Given the description of an element on the screen output the (x, y) to click on. 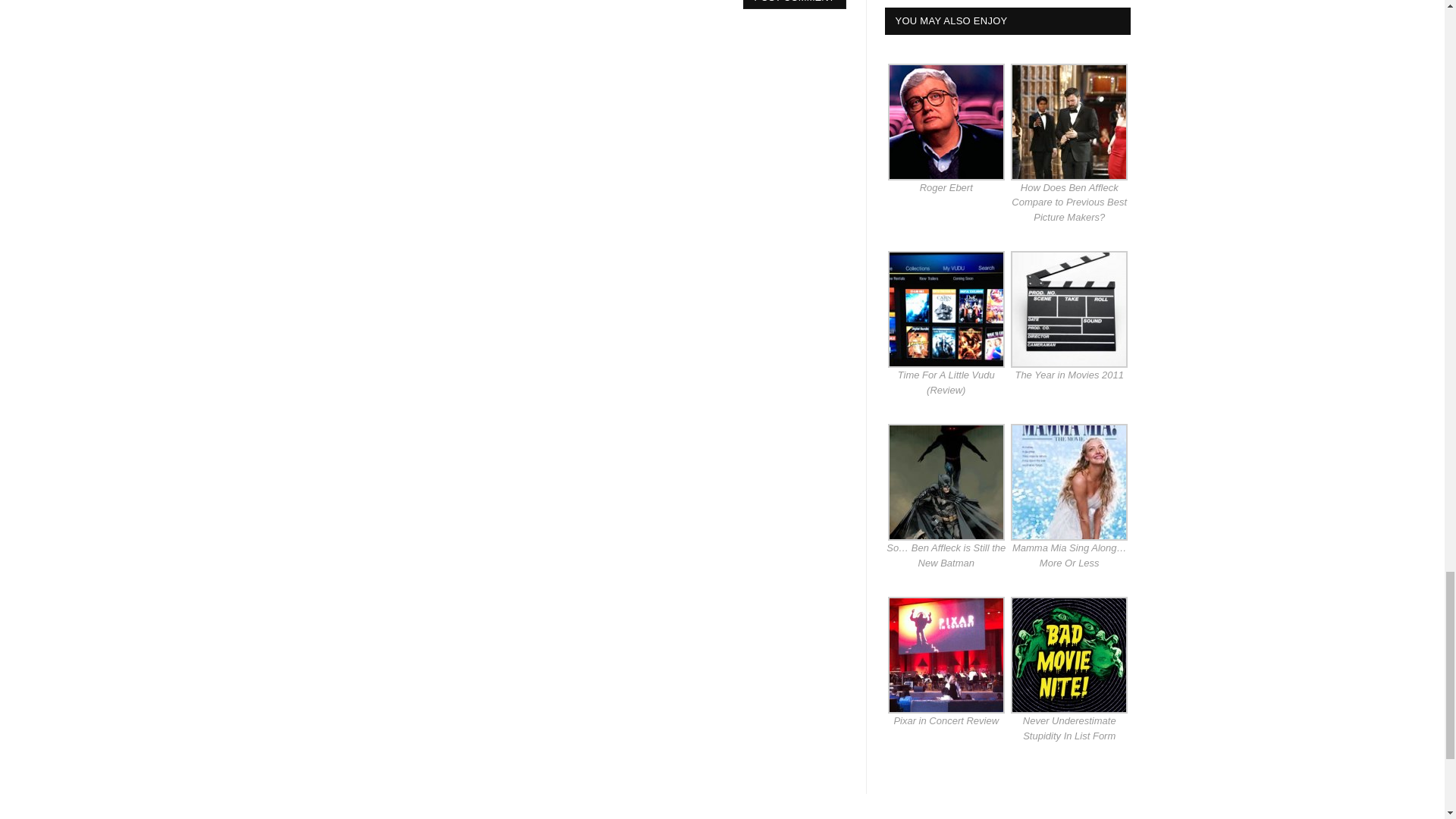
Post Comment (793, 4)
